Given the description of an element on the screen output the (x, y) to click on. 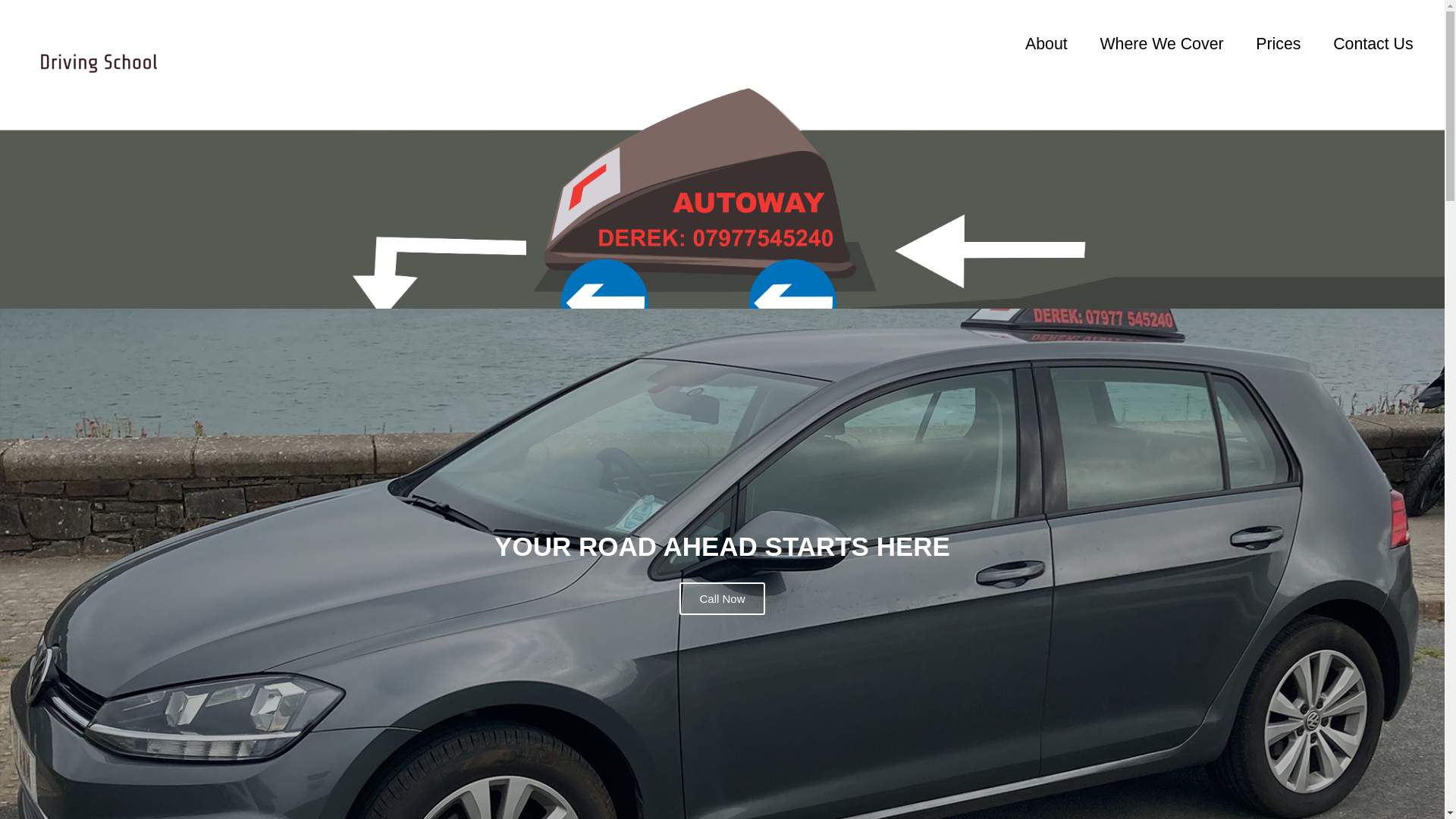
Prices (1278, 42)
Where We Cover (1161, 42)
Contact Us (1373, 42)
About (1046, 42)
Call Now (721, 598)
